Given the description of an element on the screen output the (x, y) to click on. 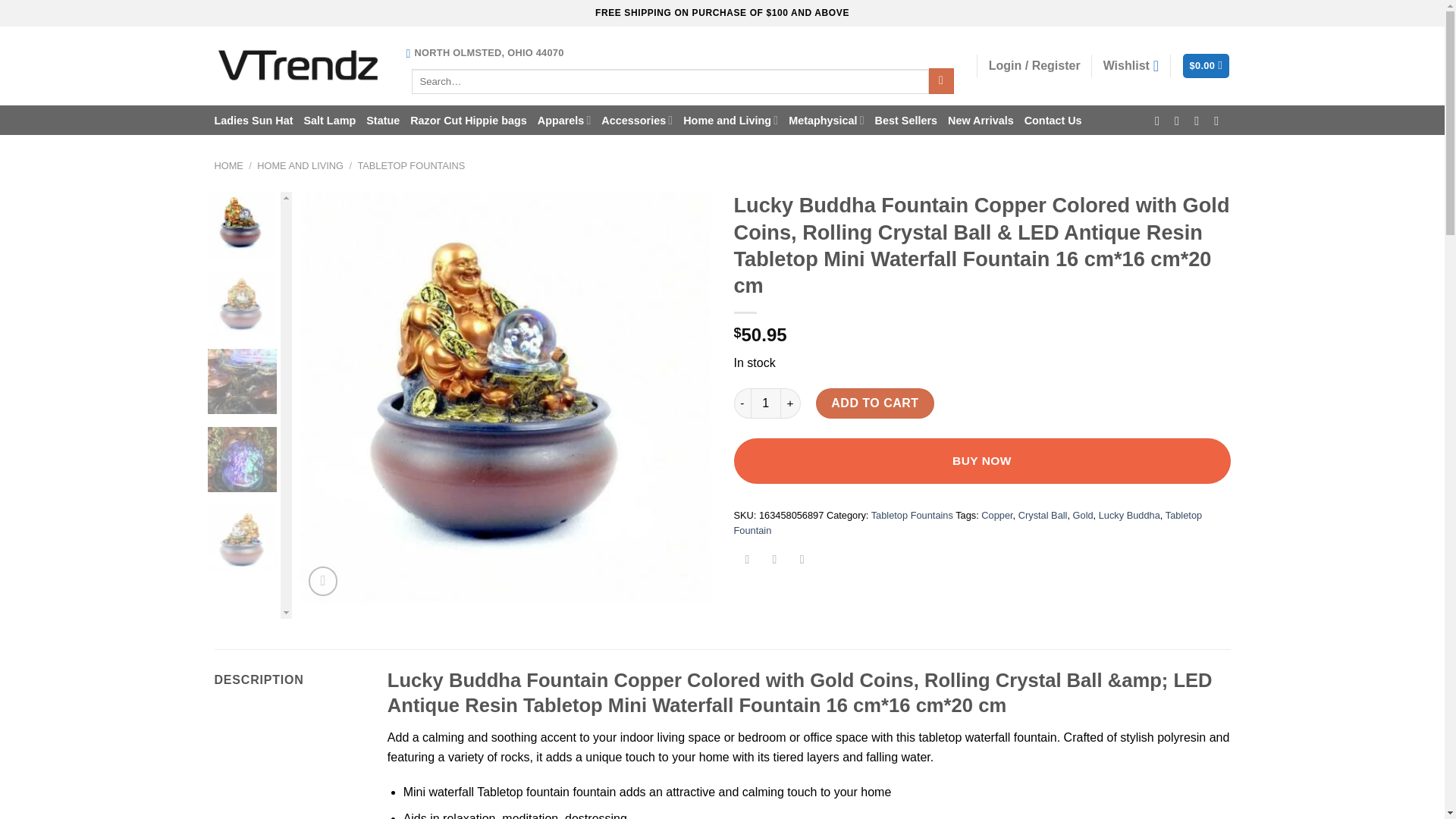
Salt Lamp (328, 120)
Call us (1219, 120)
Cart (1205, 66)
Apparels (564, 120)
Login (1034, 65)
Zoom (322, 581)
Wishlist (1130, 65)
Home and Living (729, 120)
Statue (382, 120)
